Given the description of an element on the screen output the (x, y) to click on. 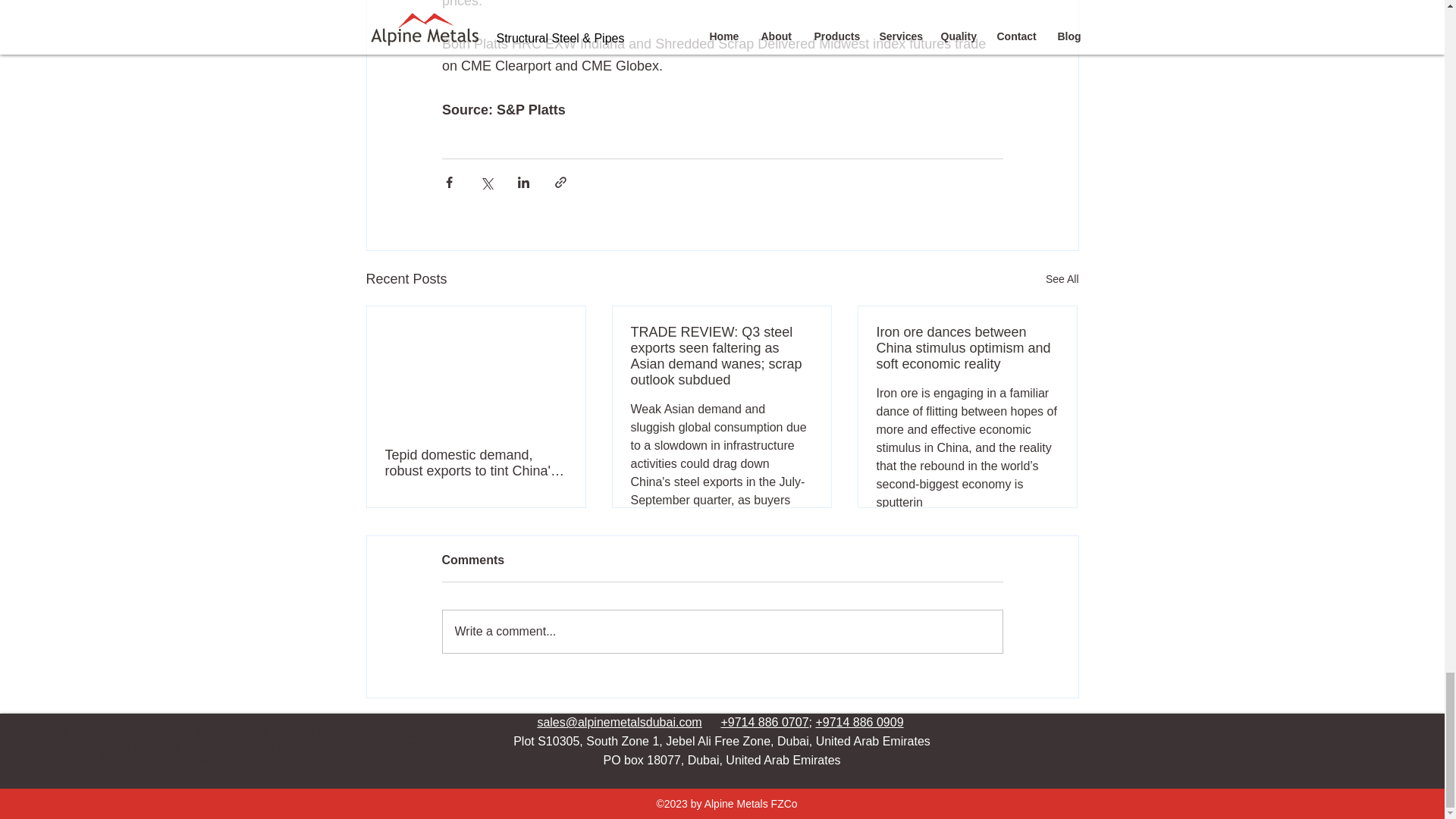
See All (1061, 279)
Write a comment... (722, 631)
